Given the description of an element on the screen output the (x, y) to click on. 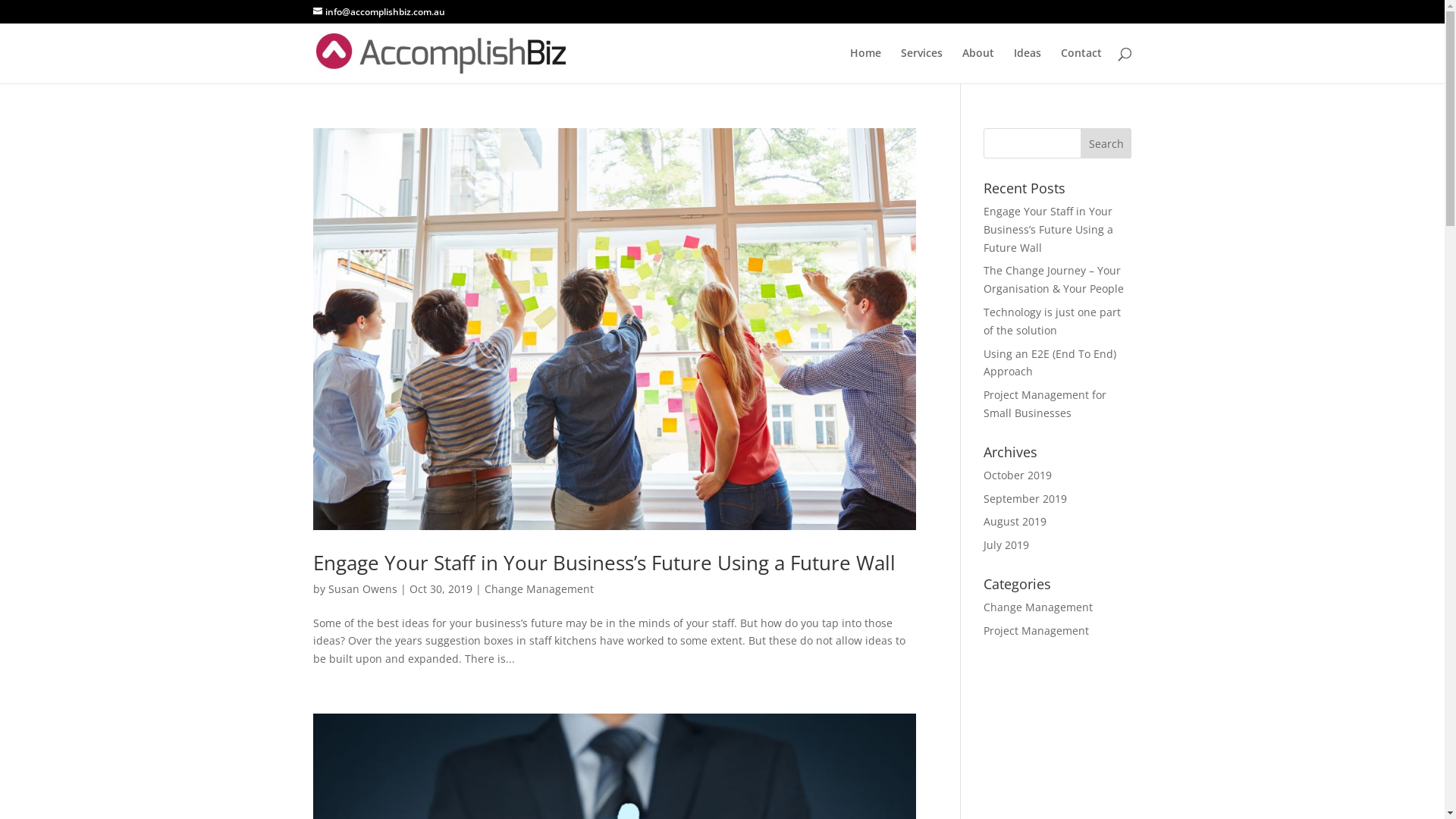
September 2019 Element type: text (1024, 498)
Services Element type: text (921, 65)
Change Management Element type: text (1037, 606)
Susan Owens Element type: text (361, 588)
July 2019 Element type: text (1006, 544)
Ideas Element type: text (1026, 65)
August 2019 Element type: text (1014, 521)
Project Management for Small Businesses Element type: text (1044, 403)
About Element type: text (977, 65)
October 2019 Element type: text (1017, 474)
Contact Element type: text (1080, 65)
Project Management Element type: text (1035, 630)
Search Element type: text (1106, 143)
info@accomplishbiz.com.au Element type: text (378, 11)
Using an E2E (End To End) Approach Element type: text (1049, 362)
Technology is just one part of the solution Element type: text (1051, 320)
Home Element type: text (864, 65)
Change Management Element type: text (538, 588)
